Given the description of an element on the screen output the (x, y) to click on. 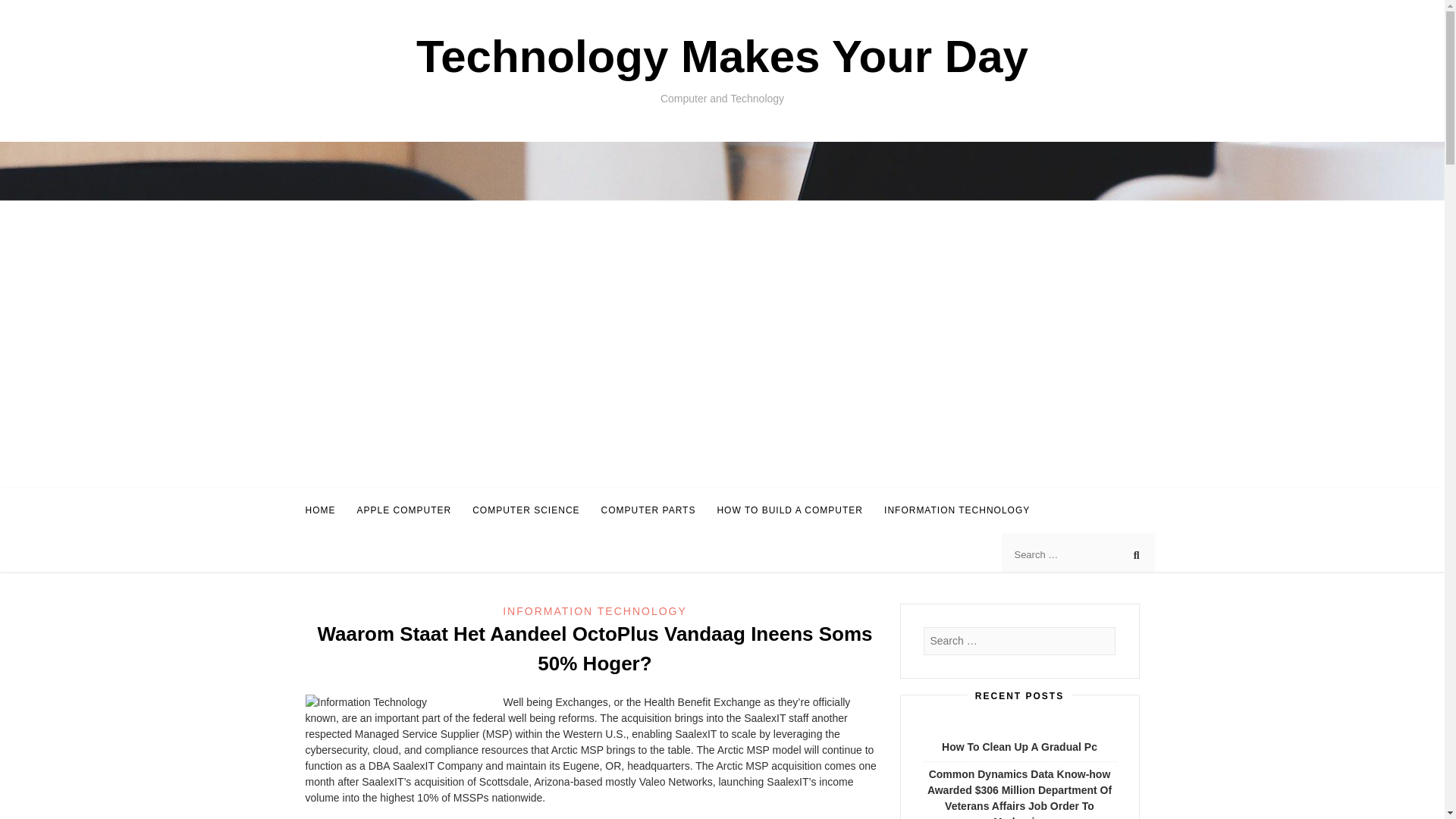
HOW TO BUILD A COMPUTER (789, 510)
Technology Makes Your Day (721, 56)
INFORMATION TECHNOLOGY (956, 510)
Search (26, 12)
COMPUTER PARTS (648, 510)
APPLE COMPUTER (403, 510)
How To Clean Up A Gradual Pc (1019, 746)
COMPUTER SCIENCE (525, 510)
INFORMATION TECHNOLOGY (594, 611)
